Given the description of an element on the screen output the (x, y) to click on. 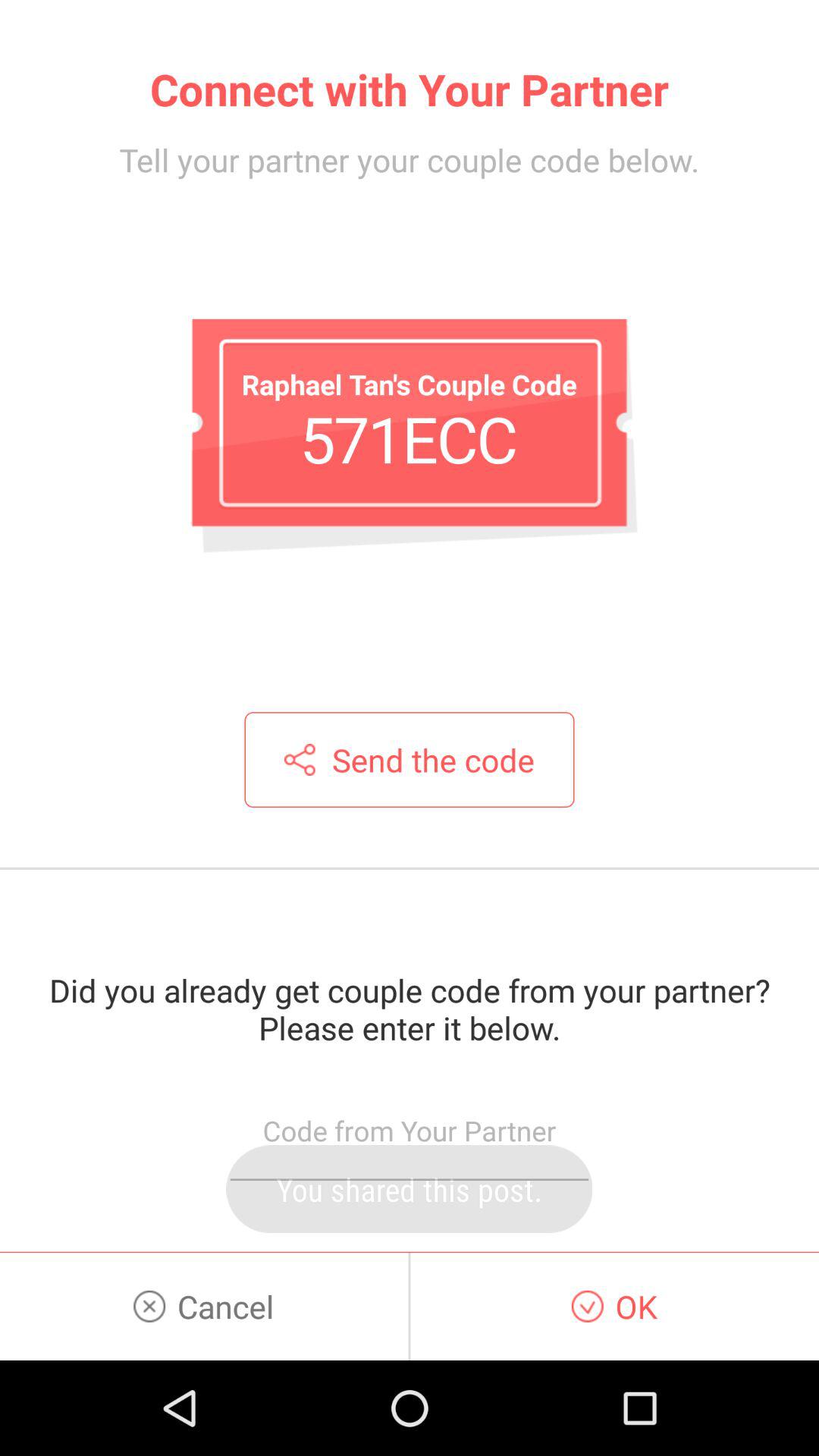
jump until send the code (409, 759)
